Given the description of an element on the screen output the (x, y) to click on. 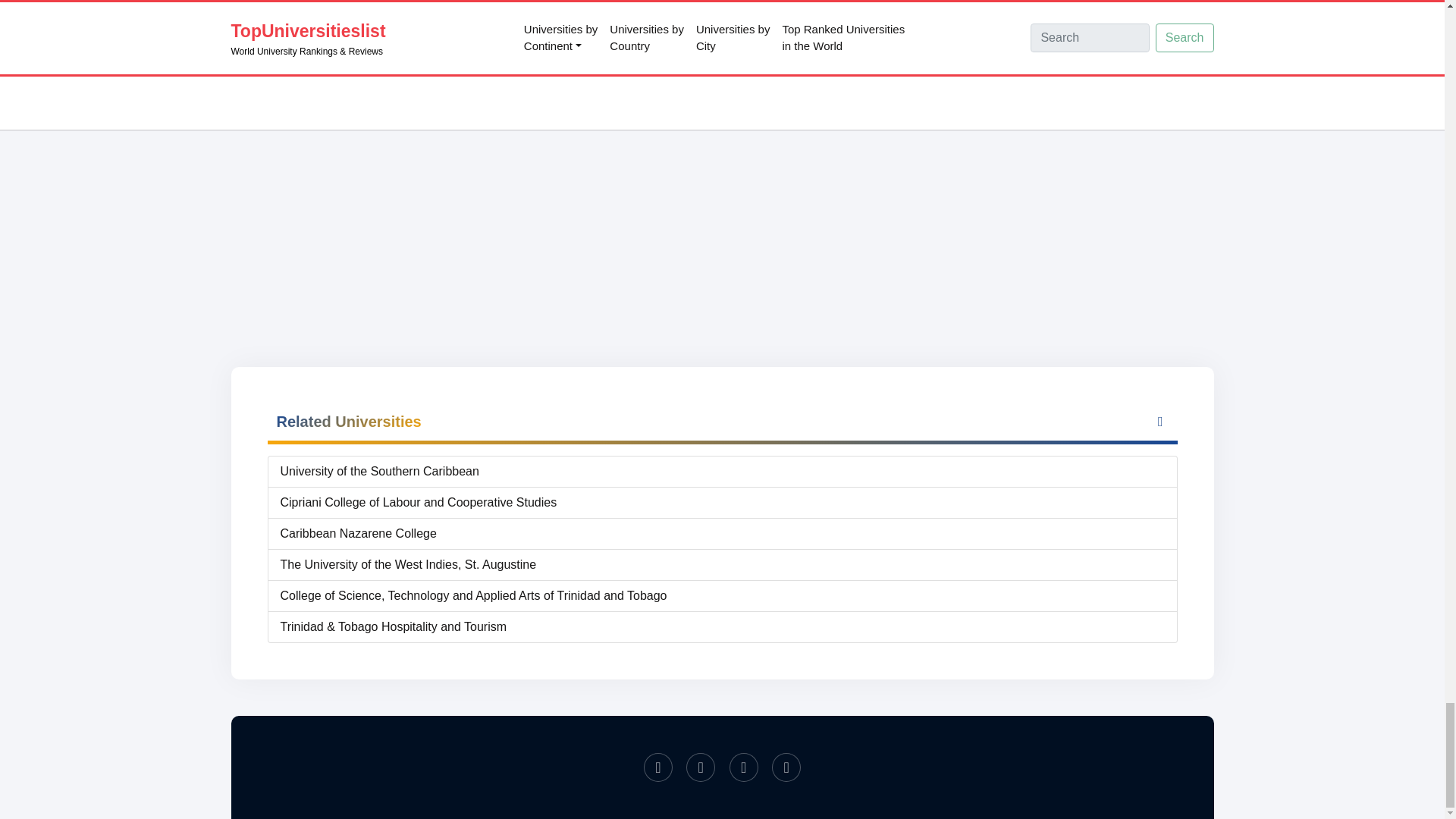
The University of the West Indies, St. Augustine (722, 565)
Cipriani College of Labour and Cooperative Studies (722, 502)
University of the Southern Caribbean (722, 471)
Caribbean Nazarene College (722, 533)
University of the Southern Caribbean (722, 471)
Caribbean Nazarene College (722, 533)
Cipriani College of Labour and Cooperative Studies (722, 502)
The University of the West Indies, St. Augustine (722, 565)
